Given the description of an element on the screen output the (x, y) to click on. 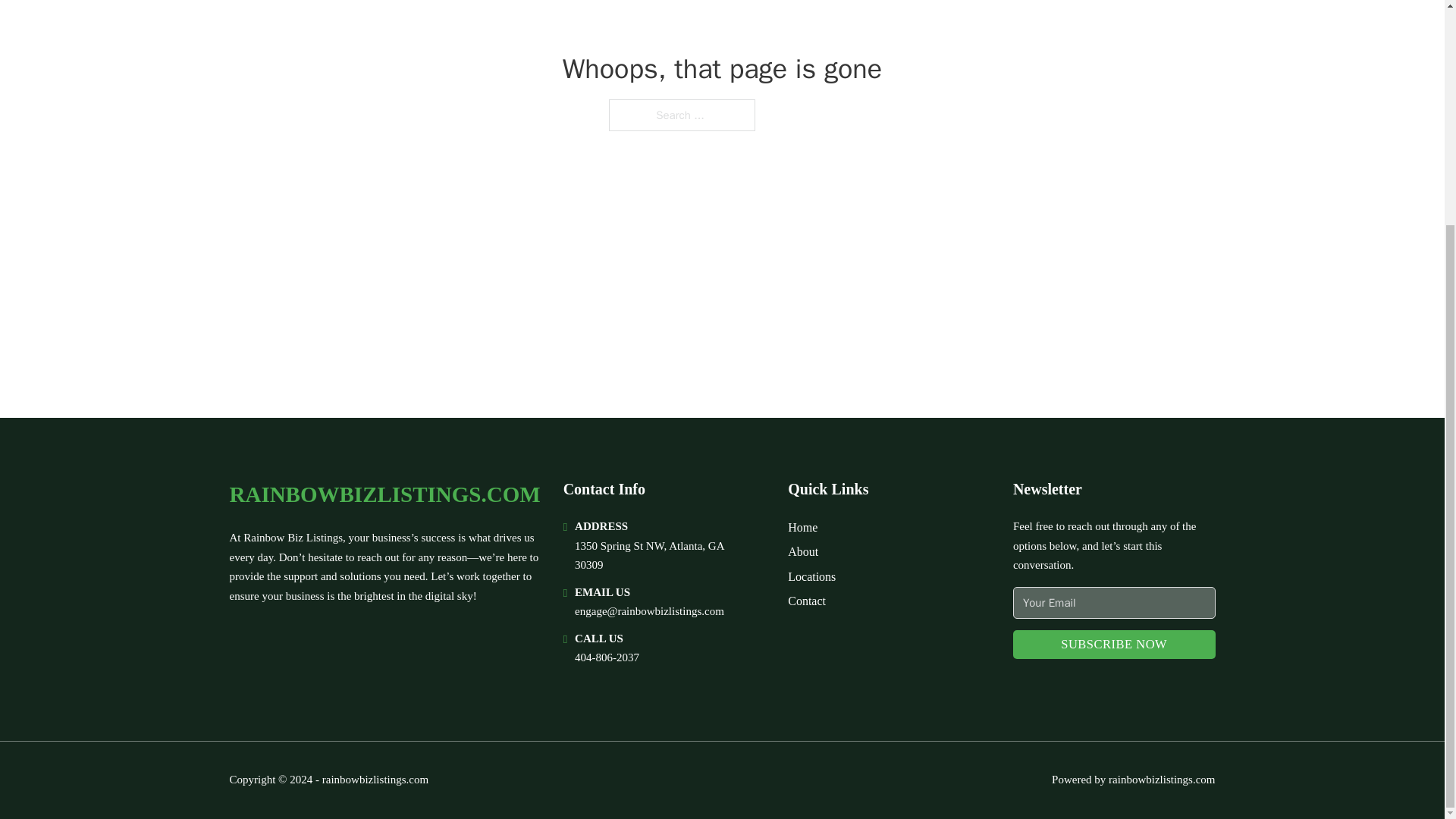
About (802, 551)
RAINBOWBIZLISTINGS.COM (384, 494)
404-806-2037 (607, 657)
Contact (806, 600)
Locations (811, 576)
SUBSCRIBE NOW (1114, 644)
Home (801, 526)
